Given the description of an element on the screen output the (x, y) to click on. 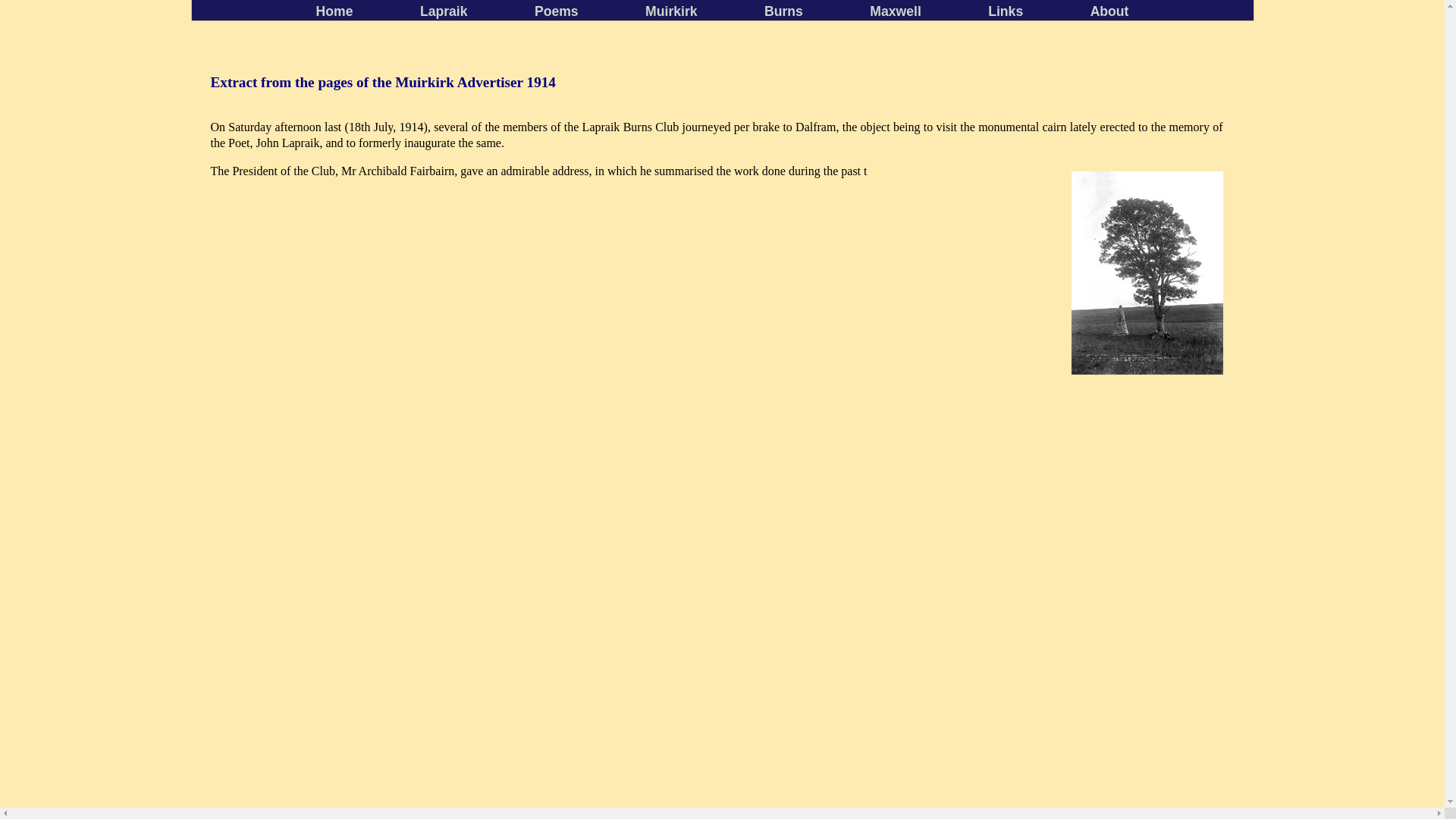
Lapraik (443, 11)
Links (1005, 11)
Muirkirk (670, 11)
Maxwell (895, 11)
Burns (783, 11)
Poems (556, 11)
Home (334, 11)
